Given the description of an element on the screen output the (x, y) to click on. 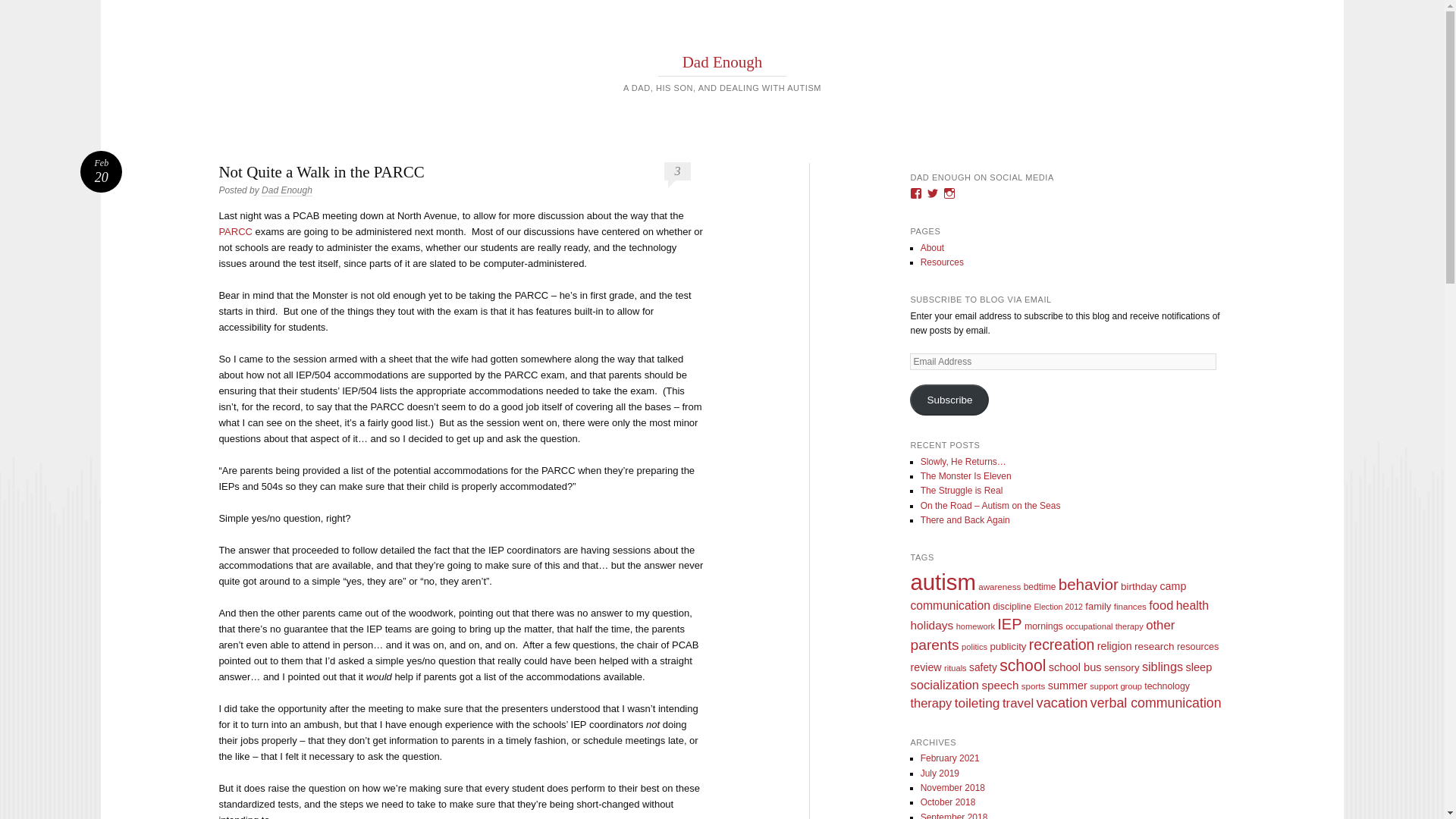
Permalink to Not Quite a Walk in the PARCC (101, 171)
There and Back Again (965, 520)
3 (676, 171)
bedtime (1040, 586)
About (931, 247)
Resources (941, 262)
PARCC (234, 231)
Subscribe (101, 171)
Dad Enough (949, 399)
View all posts by Dad Enough (287, 190)
Dad Enough (287, 190)
Dad Enough (722, 62)
autism (722, 62)
The Monster Is Eleven (942, 581)
